Given the description of an element on the screen output the (x, y) to click on. 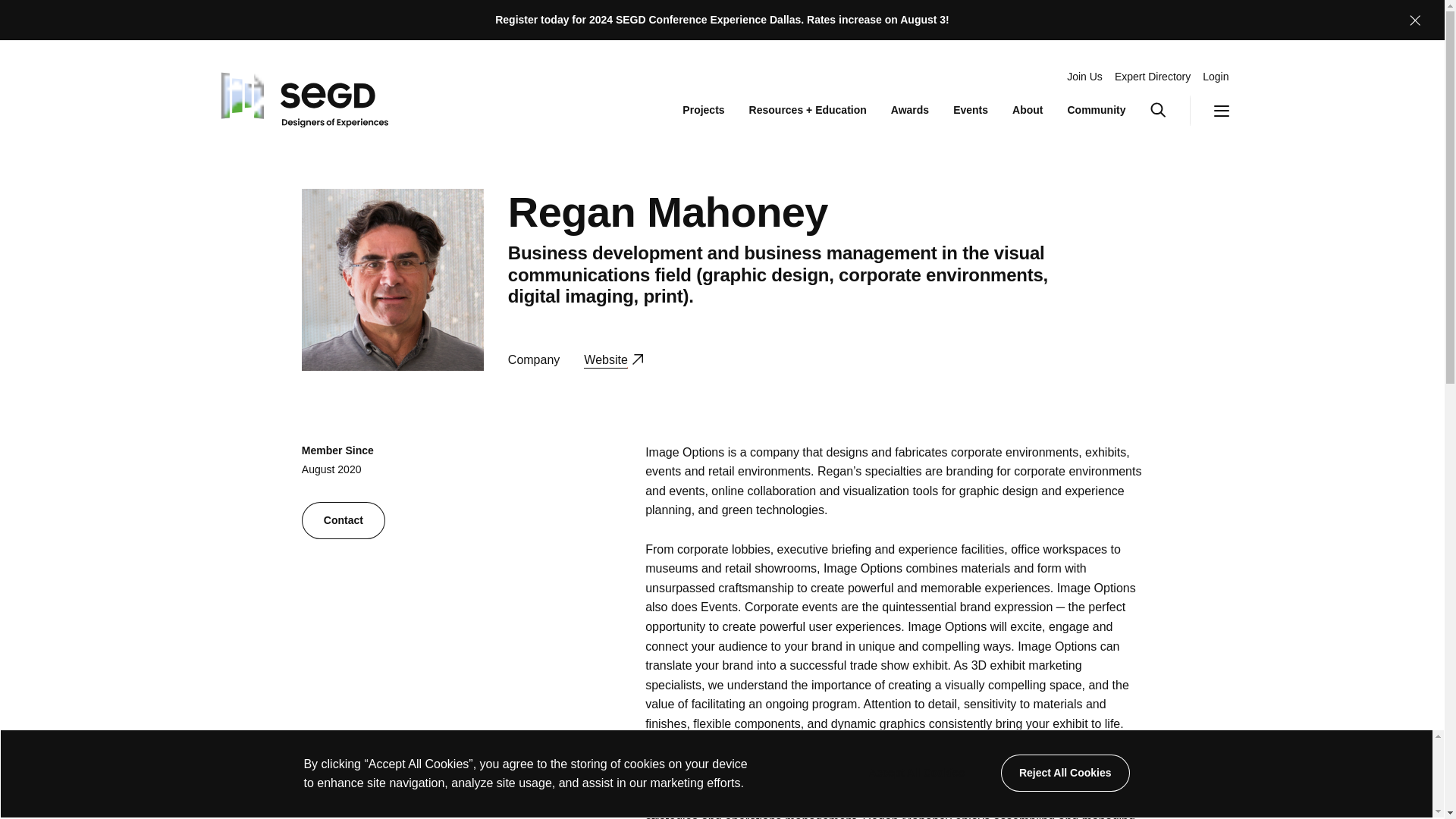
Awards (909, 110)
Events (970, 110)
Community (1096, 110)
Join Us (1084, 76)
Open search (1169, 110)
Login (1215, 76)
Skip to content (1208, 110)
Website (702, 110)
Home (613, 359)
About (301, 95)
Accept All Cookies (1026, 110)
Reject All Cookies (916, 772)
Contact (1065, 772)
